Given the description of an element on the screen output the (x, y) to click on. 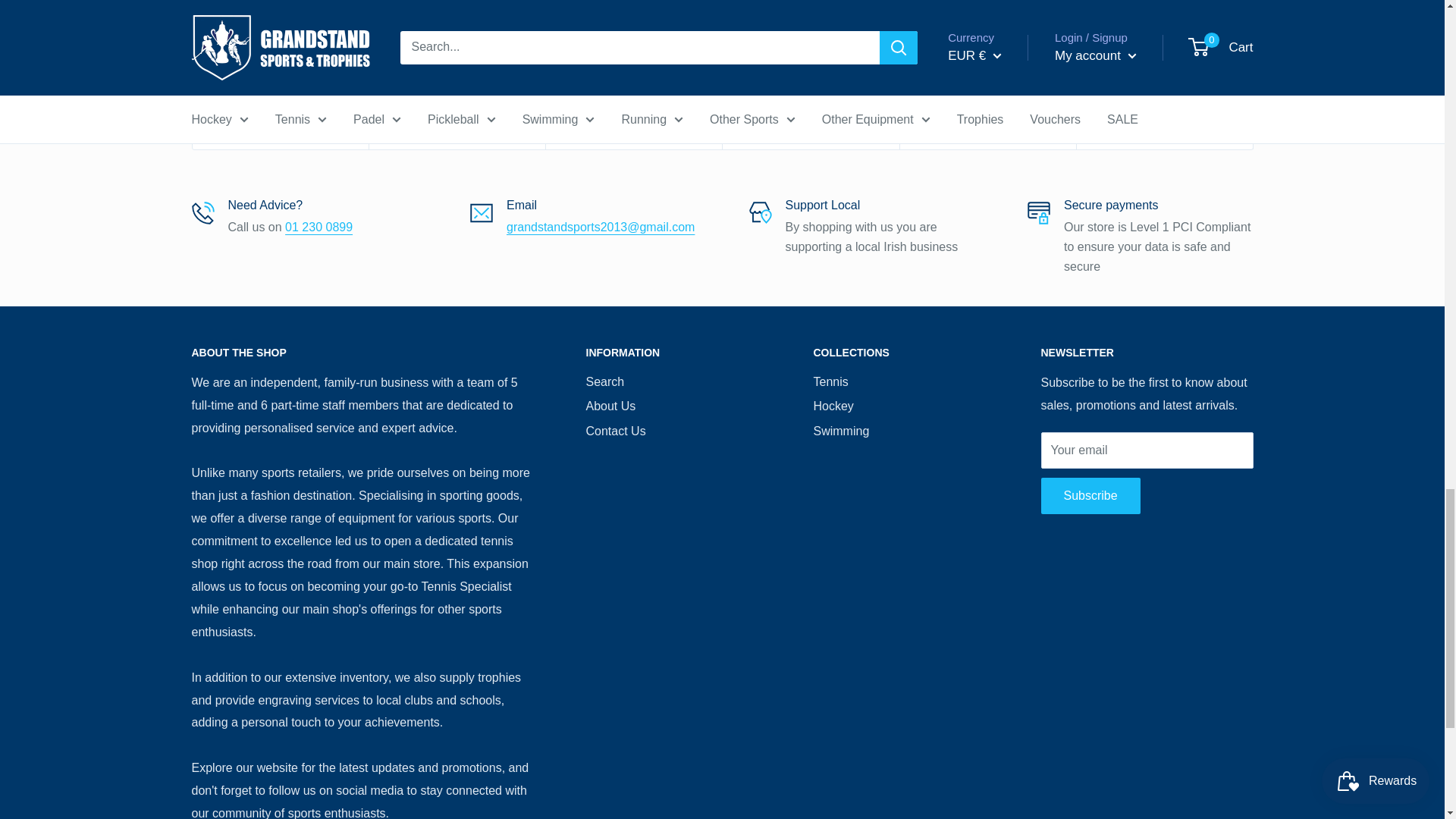
Email Grandstand Sports (600, 226)
Phone Grandstand Sports (318, 226)
Pink (946, 68)
Blue (924, 68)
